Given the description of an element on the screen output the (x, y) to click on. 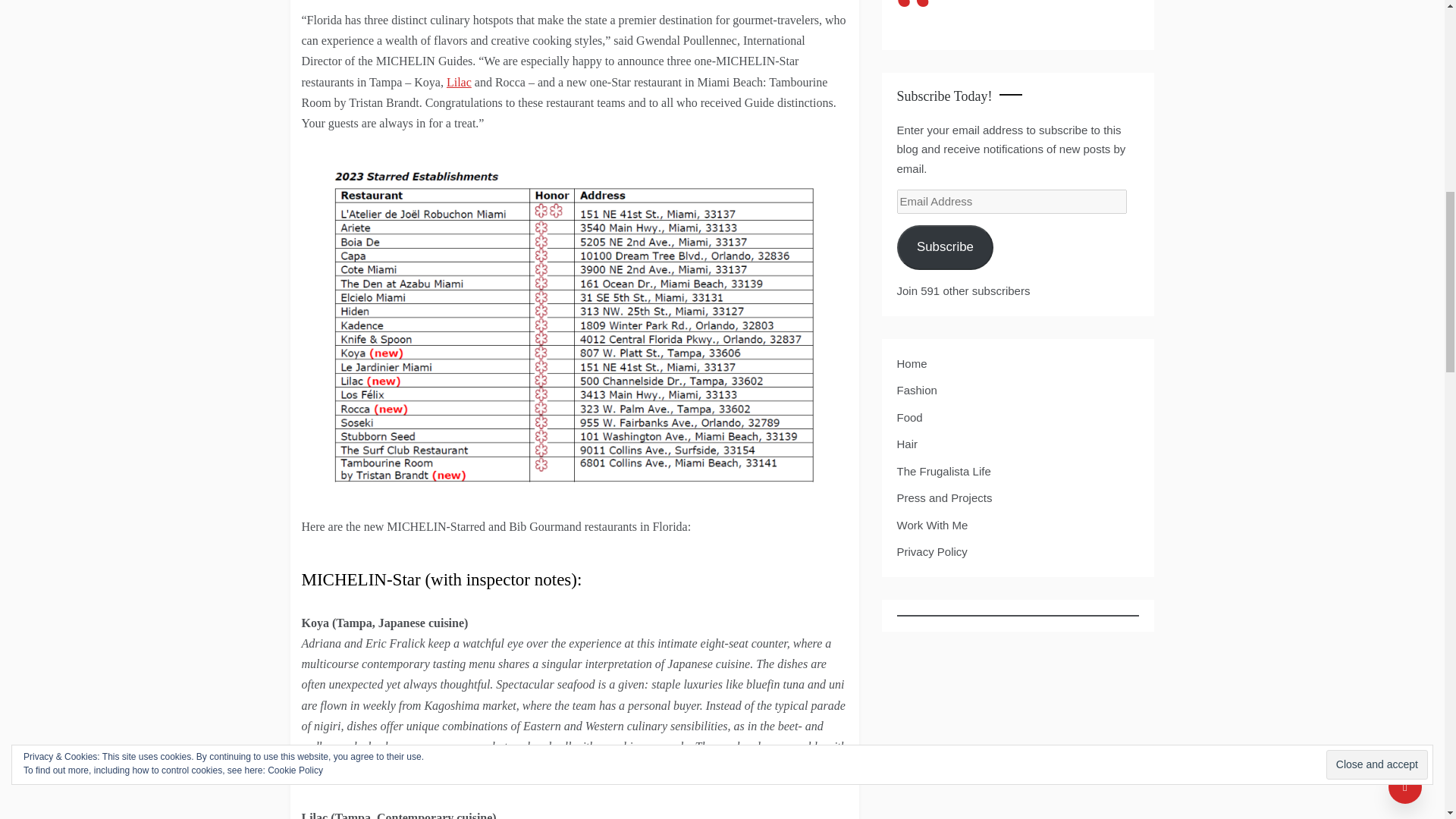
Lilac (458, 82)
Home (911, 363)
Fashion (916, 390)
Subscribe (944, 247)
